Given the description of an element on the screen output the (x, y) to click on. 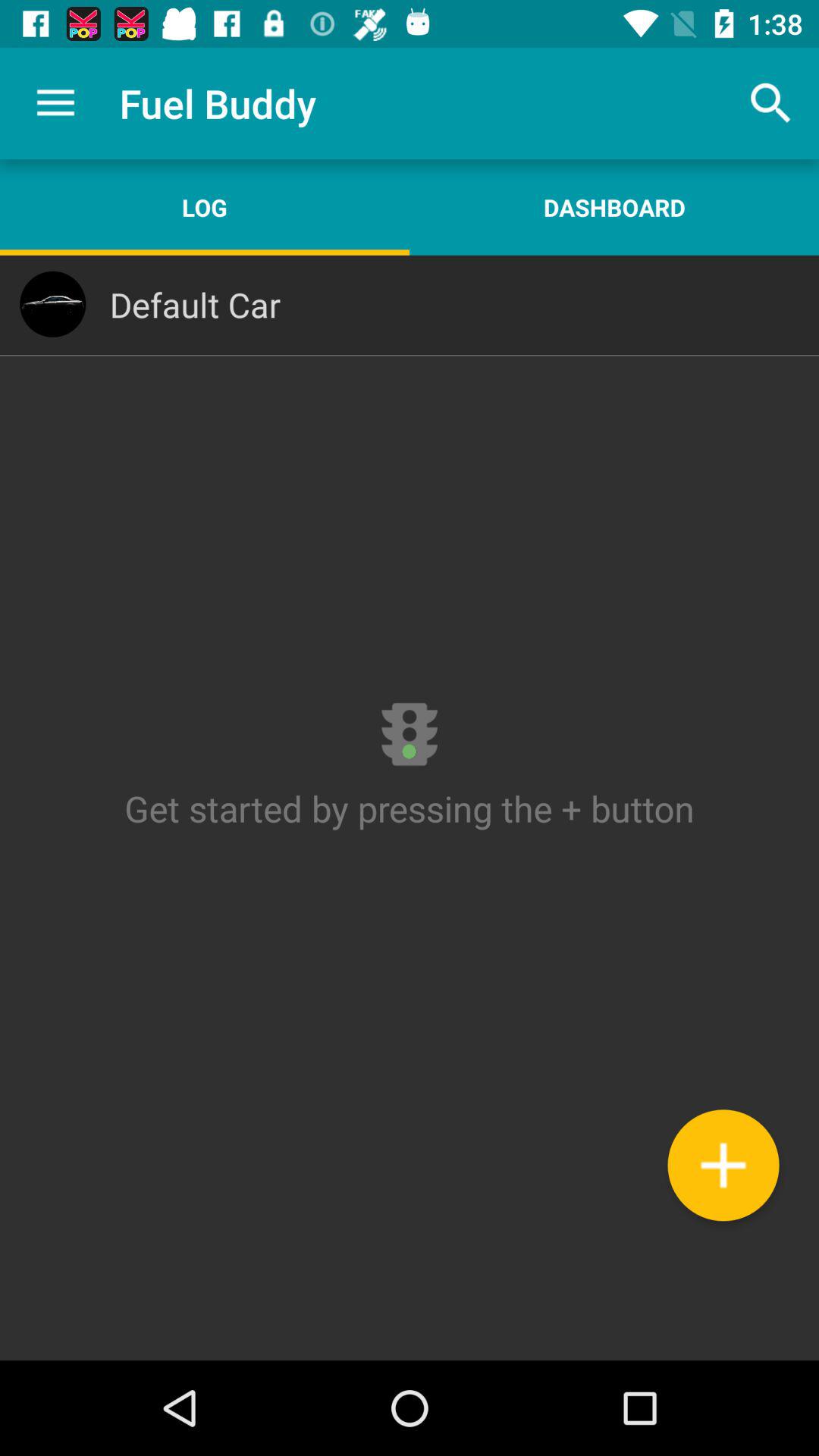
open the app (409, 808)
